Given the description of an element on the screen output the (x, y) to click on. 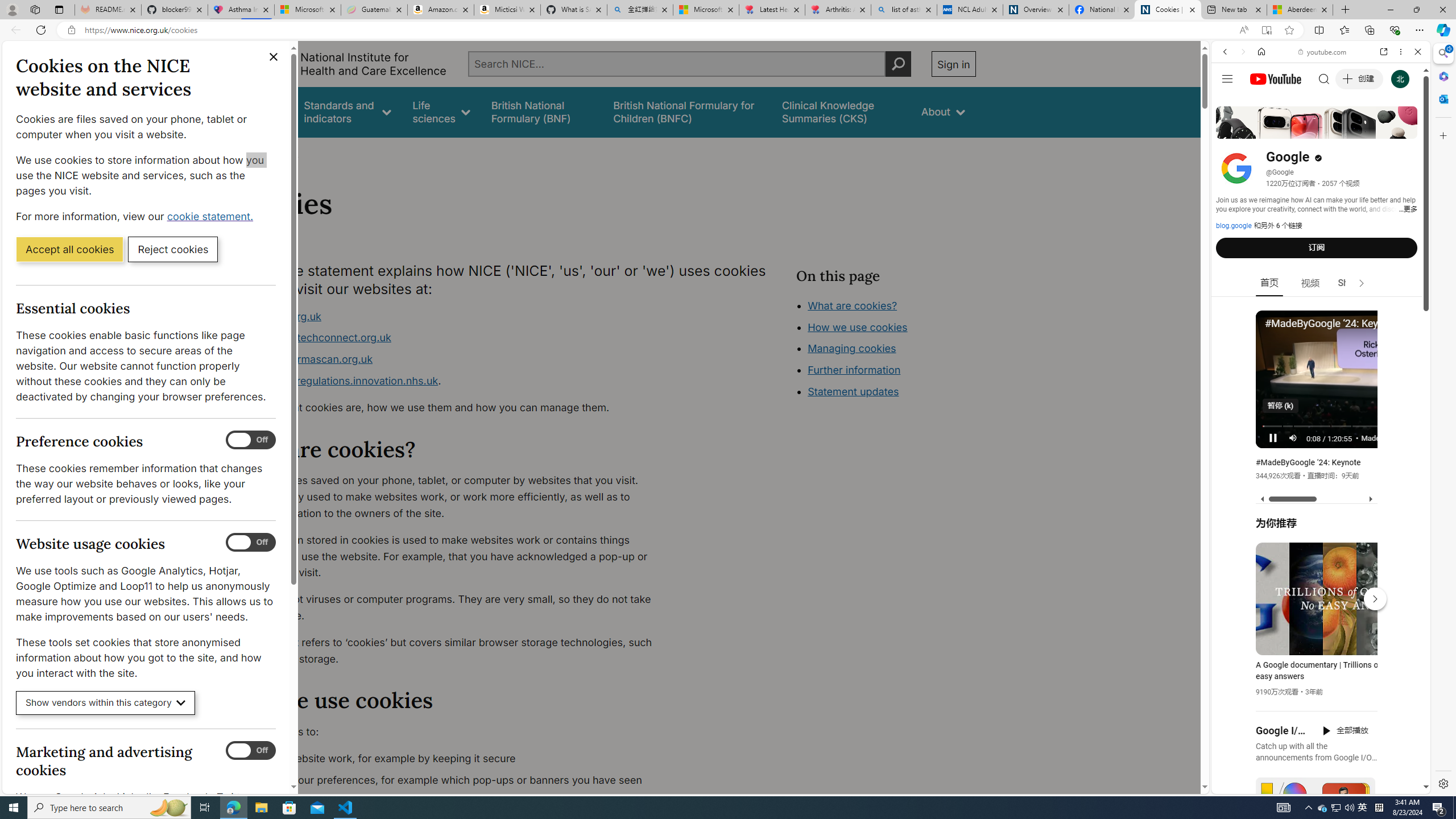
Website usage cookies (250, 542)
How we use cookies (896, 389)
